Given the description of an element on the screen output the (x, y) to click on. 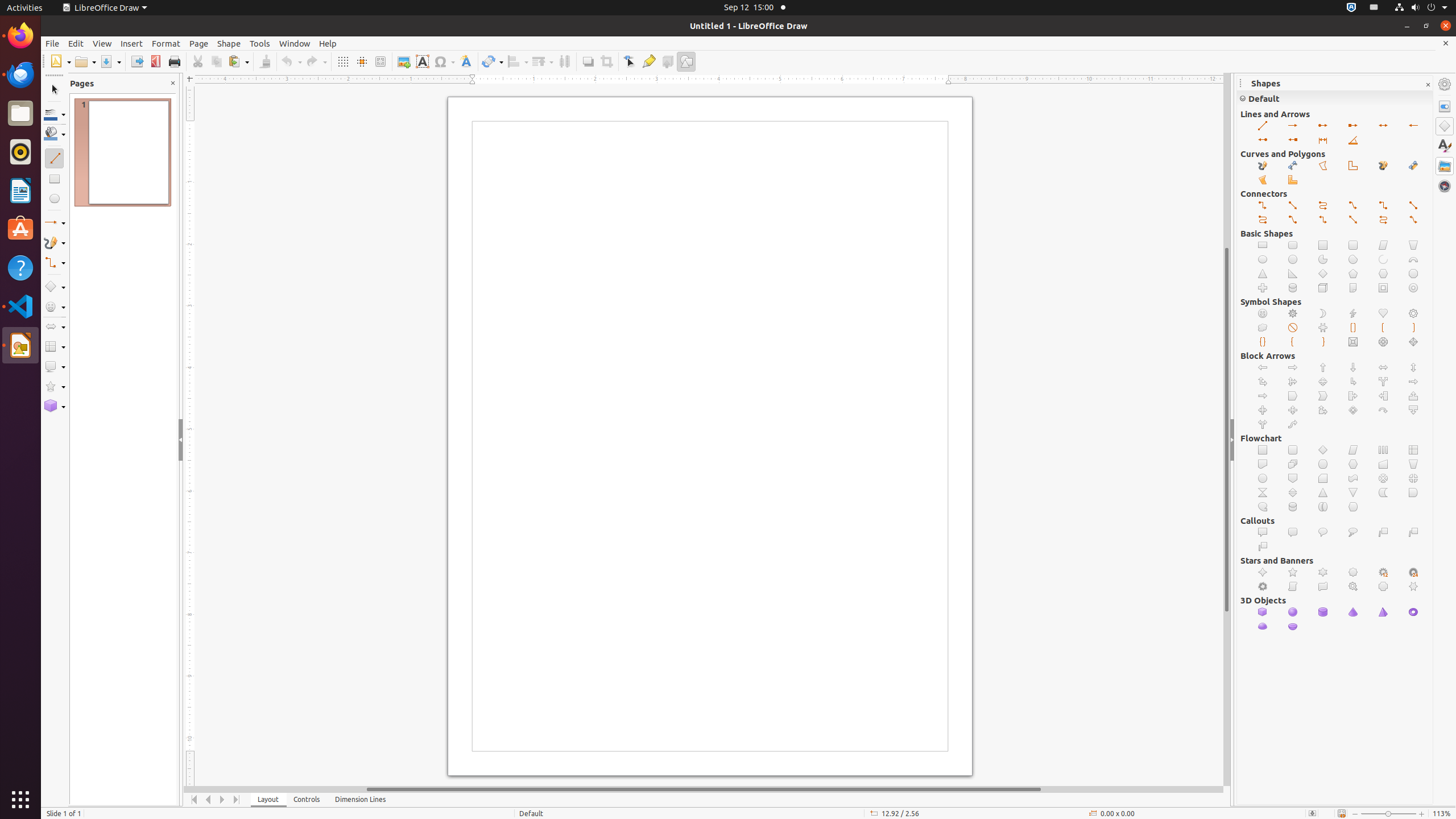
Properties Element type: radio-button (1444, 106)
Show Applications Element type: toggle-button (20, 799)
Rectangular Callout Element type: list-item (1262, 532)
Flowchart: Internal Storage Element type: list-item (1413, 450)
Flowchart: Direct Access Storage Element type: list-item (1323, 506)
